Given the description of an element on the screen output the (x, y) to click on. 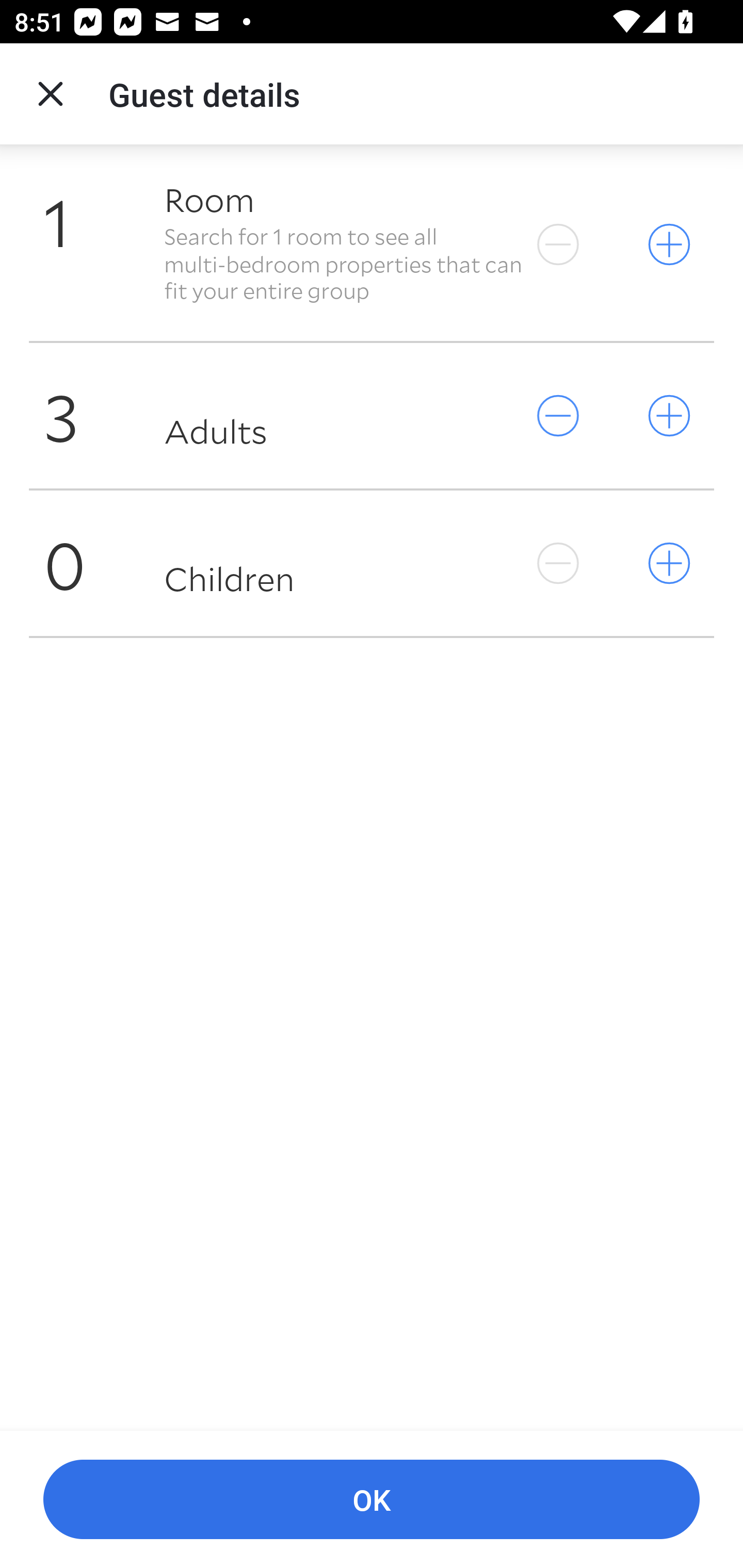
OK (371, 1499)
